Given the description of an element on the screen output the (x, y) to click on. 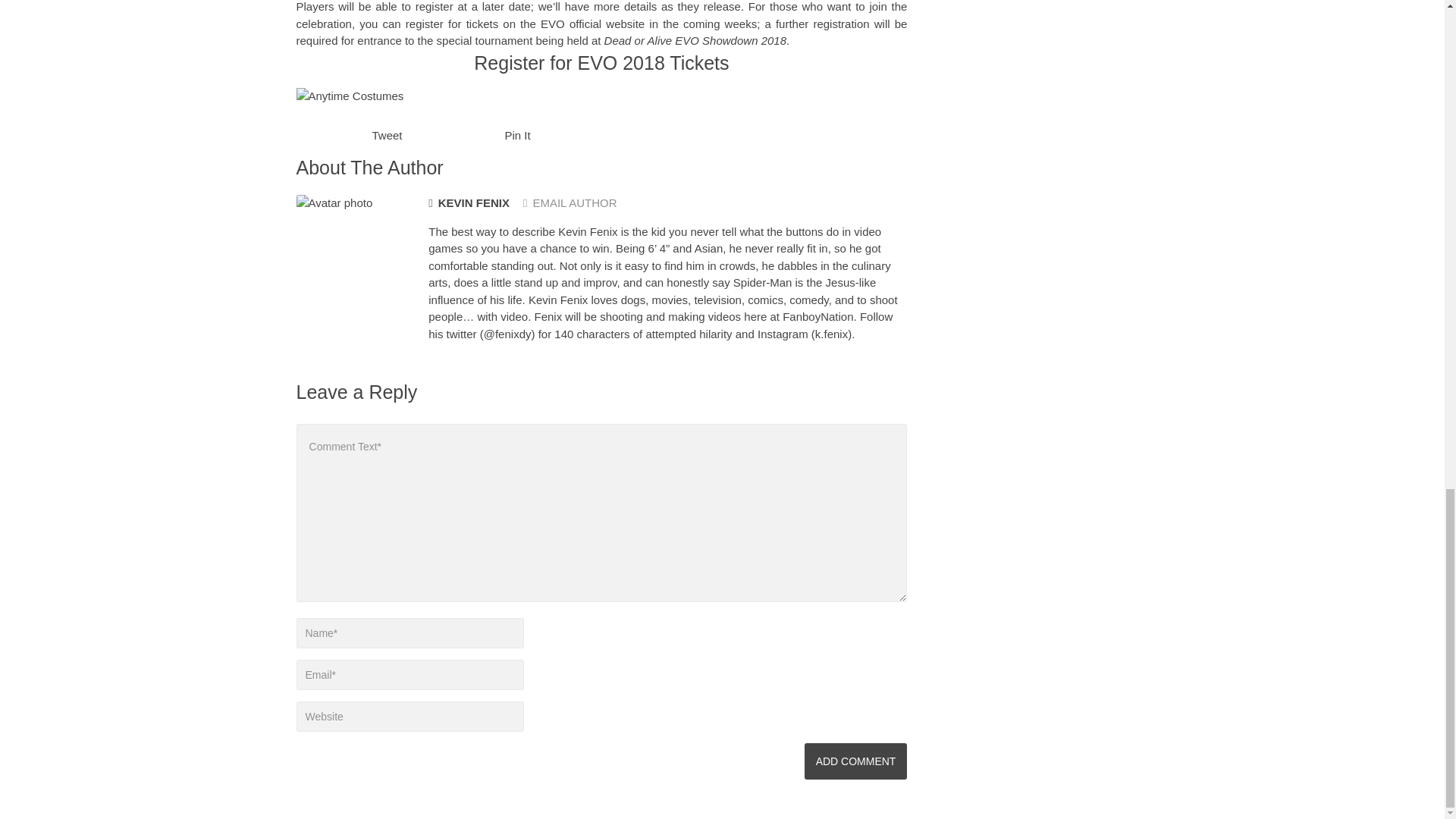
Register for EVO 2018 Tickets (601, 62)
Add Comment (856, 760)
EMAIL AUTHOR (569, 202)
Add Comment (856, 760)
Tweet (386, 134)
KEVIN FENIX (468, 203)
EVO official website (592, 23)
Pin It (518, 134)
